Given the description of an element on the screen output the (x, y) to click on. 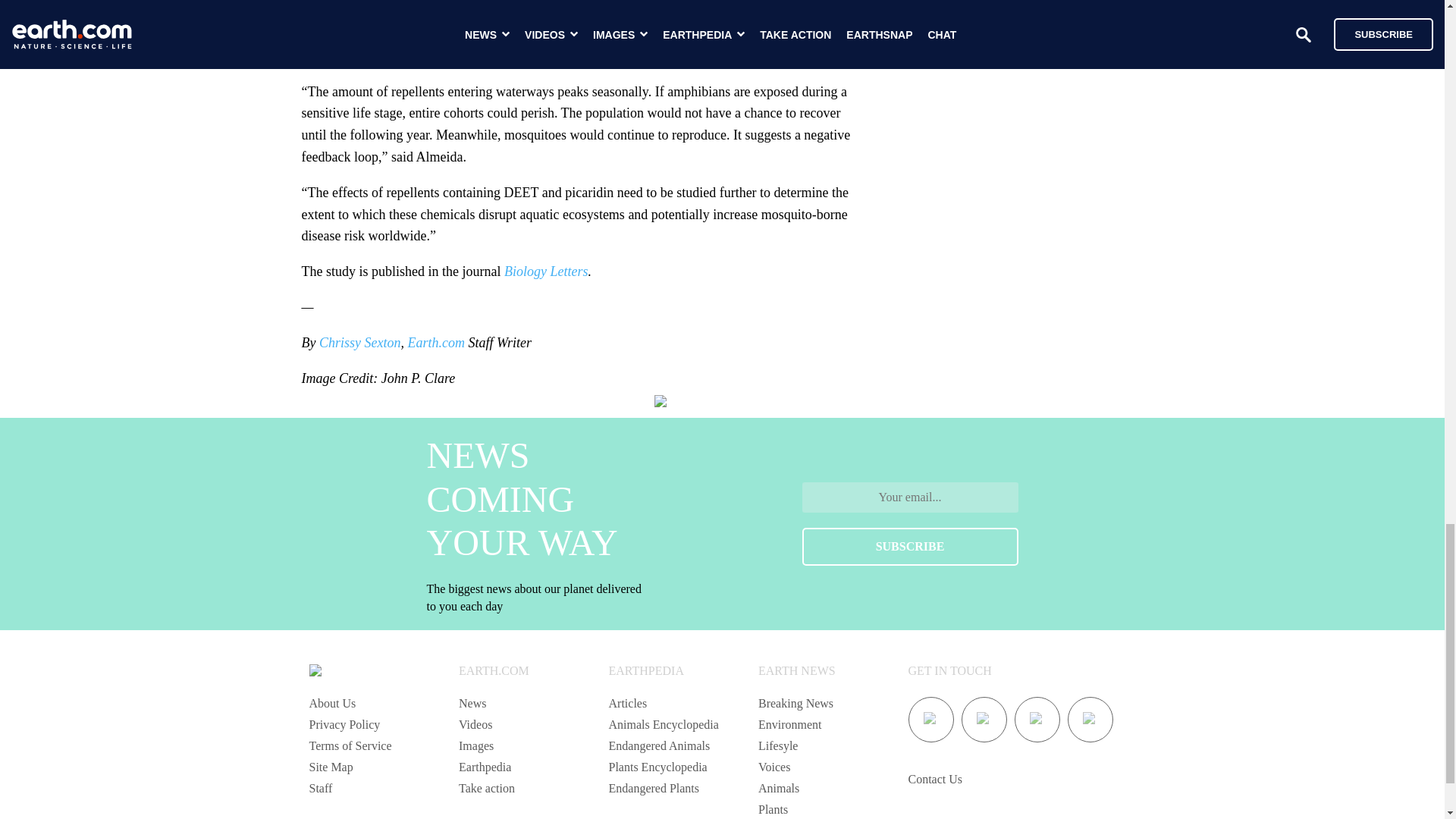
Chrissy Sexton (359, 342)
Earth.com (435, 342)
Biology Letters (545, 271)
